Given the description of an element on the screen output the (x, y) to click on. 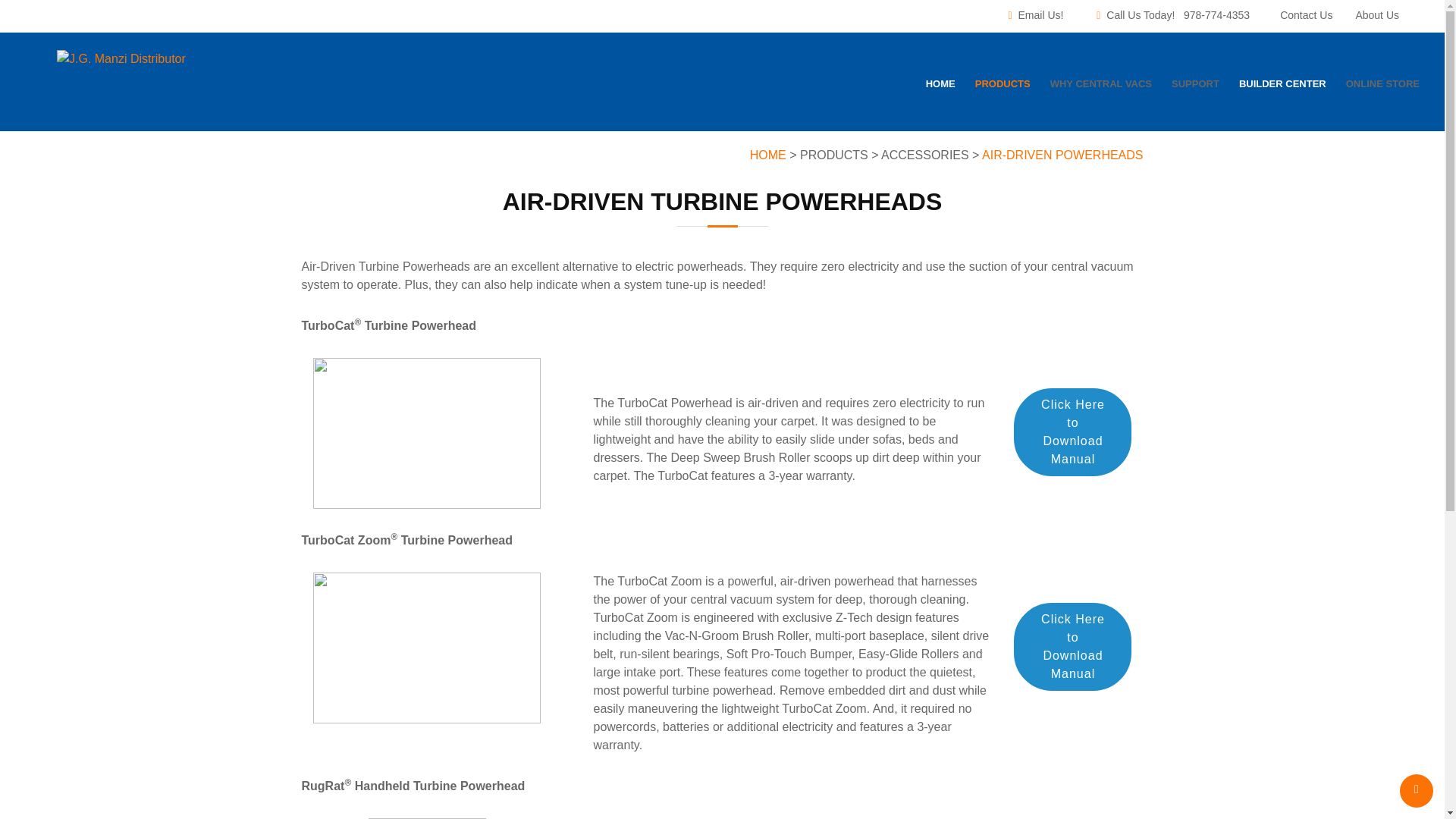
HOME (940, 87)
Contact Us (1305, 15)
WHY CENTRAL VACS (1100, 87)
Email Us! (1039, 15)
BUILDER CENTER (1282, 87)
ONLINE STORE (1382, 87)
J.G. Manzi Distributor (121, 58)
PRODUCTS (1002, 87)
SUPPORT (1195, 87)
About Us (1377, 15)
